Given the description of an element on the screen output the (x, y) to click on. 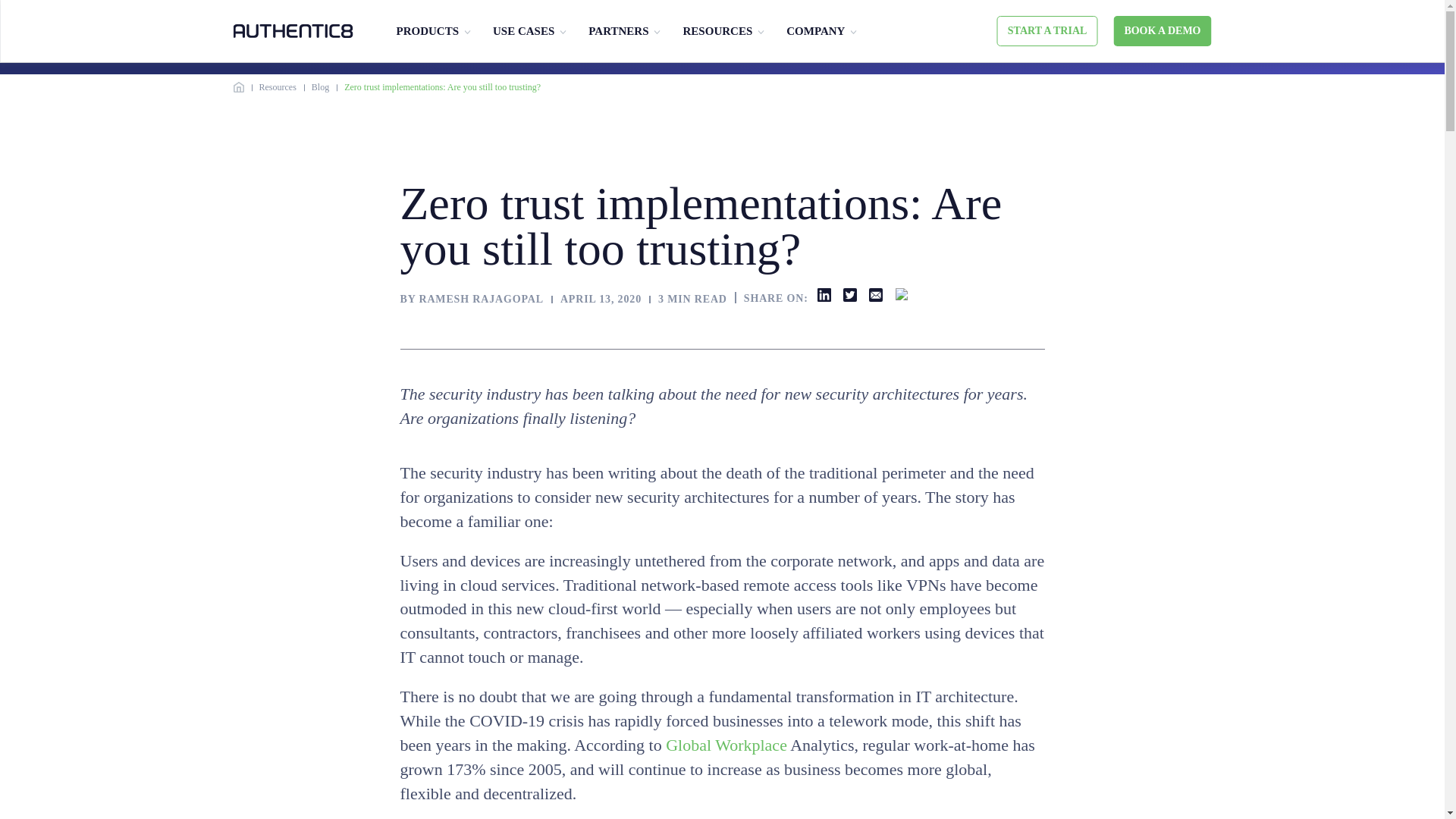
COMPANY (815, 31)
Email (875, 295)
PARTNERS (617, 31)
PRODUCTS (427, 31)
RESOURCES (717, 31)
Facebook (901, 295)
Twitter (850, 295)
USE CASES (523, 31)
Linkedin (823, 295)
